Given the description of an element on the screen output the (x, y) to click on. 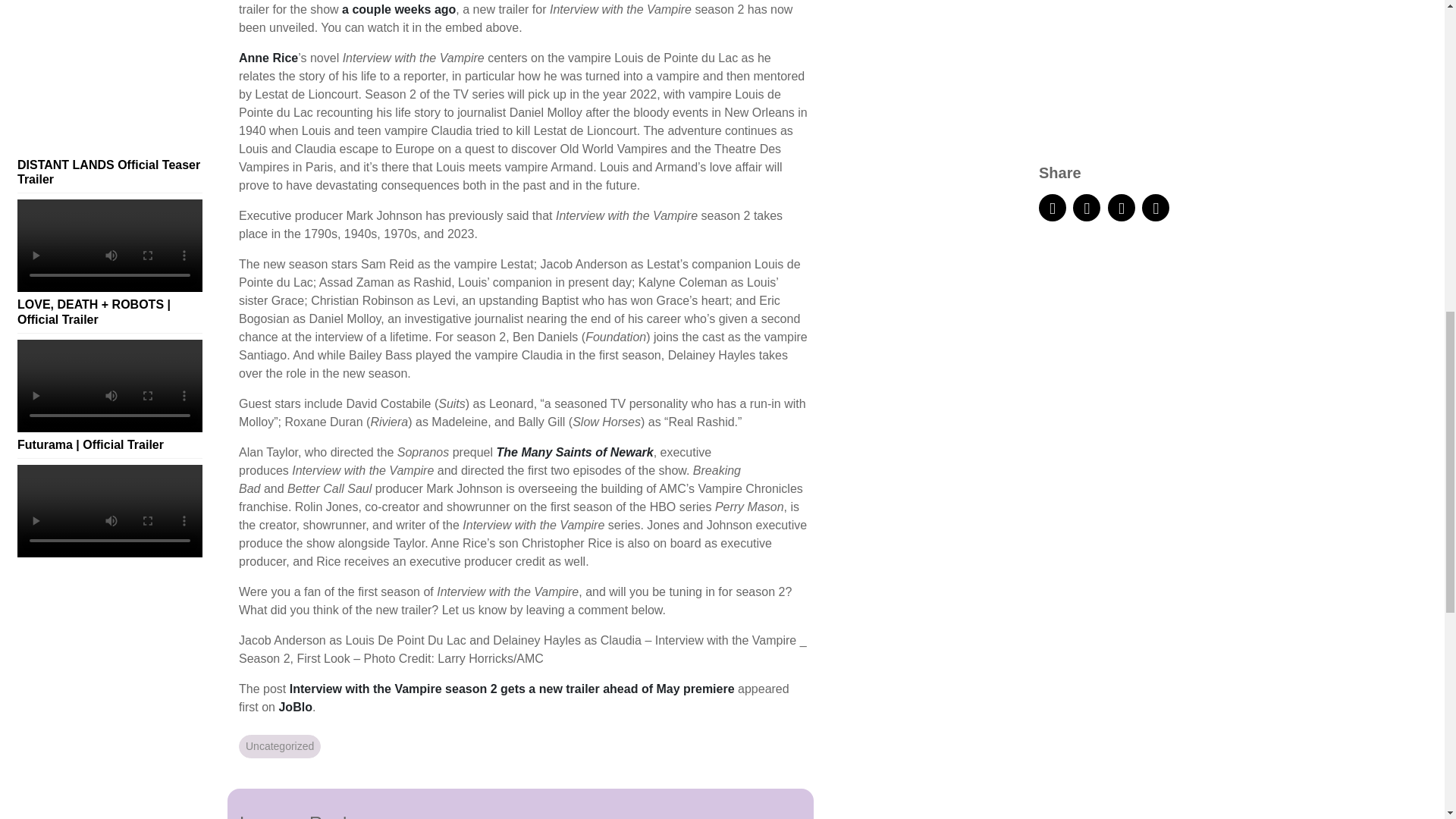
a couple weeks ago (398, 9)
The Many Saints of Newark (574, 451)
Anne Rice (268, 57)
Uncategorized (279, 746)
JoBlo (294, 707)
